Given the description of an element on the screen output the (x, y) to click on. 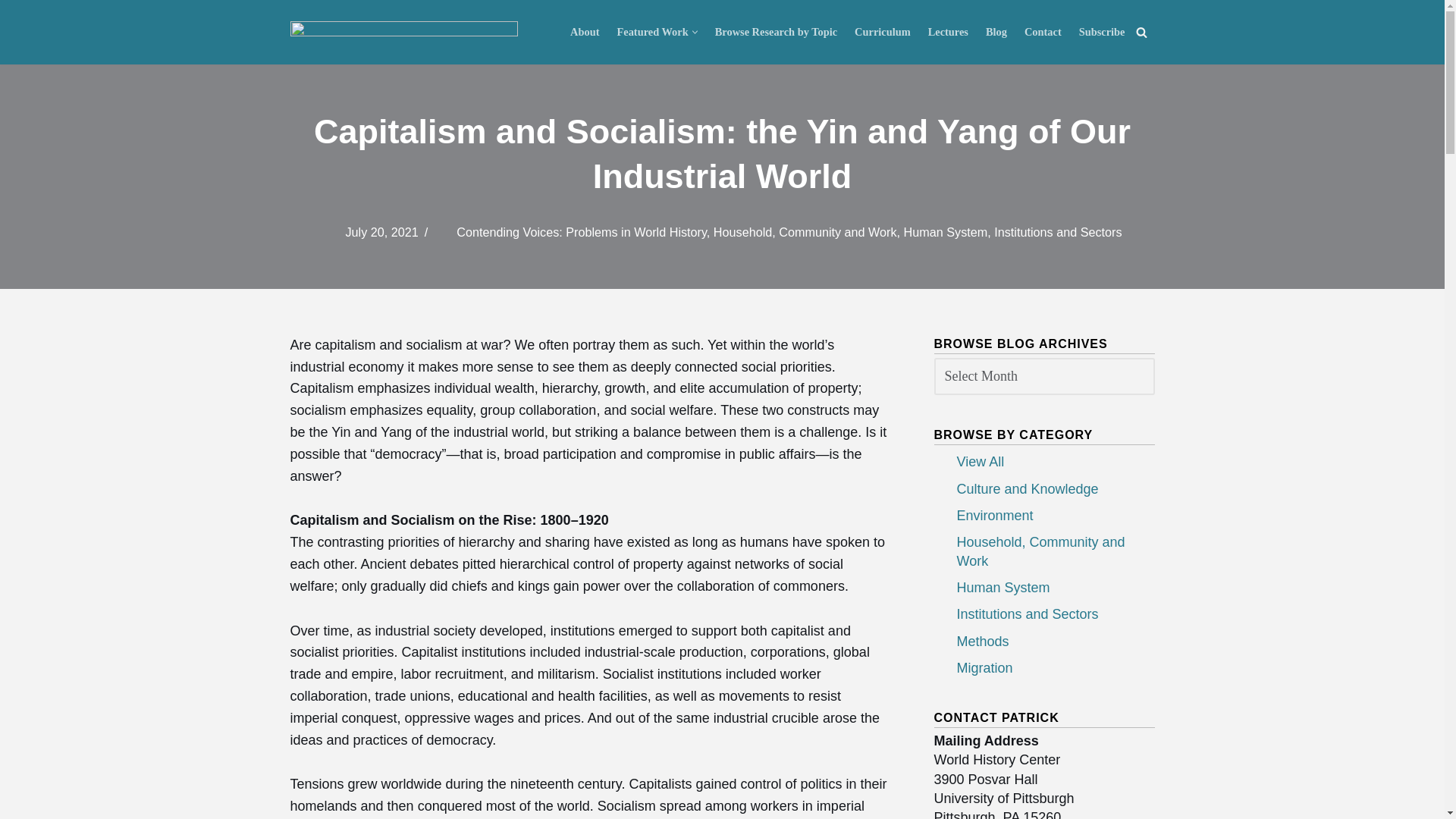
Institutions and Sectors (1057, 232)
Blog (996, 31)
Featured Work (652, 31)
About (584, 31)
Curriculum (882, 31)
Subscribe (1101, 31)
Lectures (948, 31)
Skip to content (11, 31)
Contending Voices: Problems in World History (581, 232)
Contact (1043, 31)
Human System (946, 232)
Household, Community and Work (804, 232)
Browse Research by Topic (775, 31)
